Given the description of an element on the screen output the (x, y) to click on. 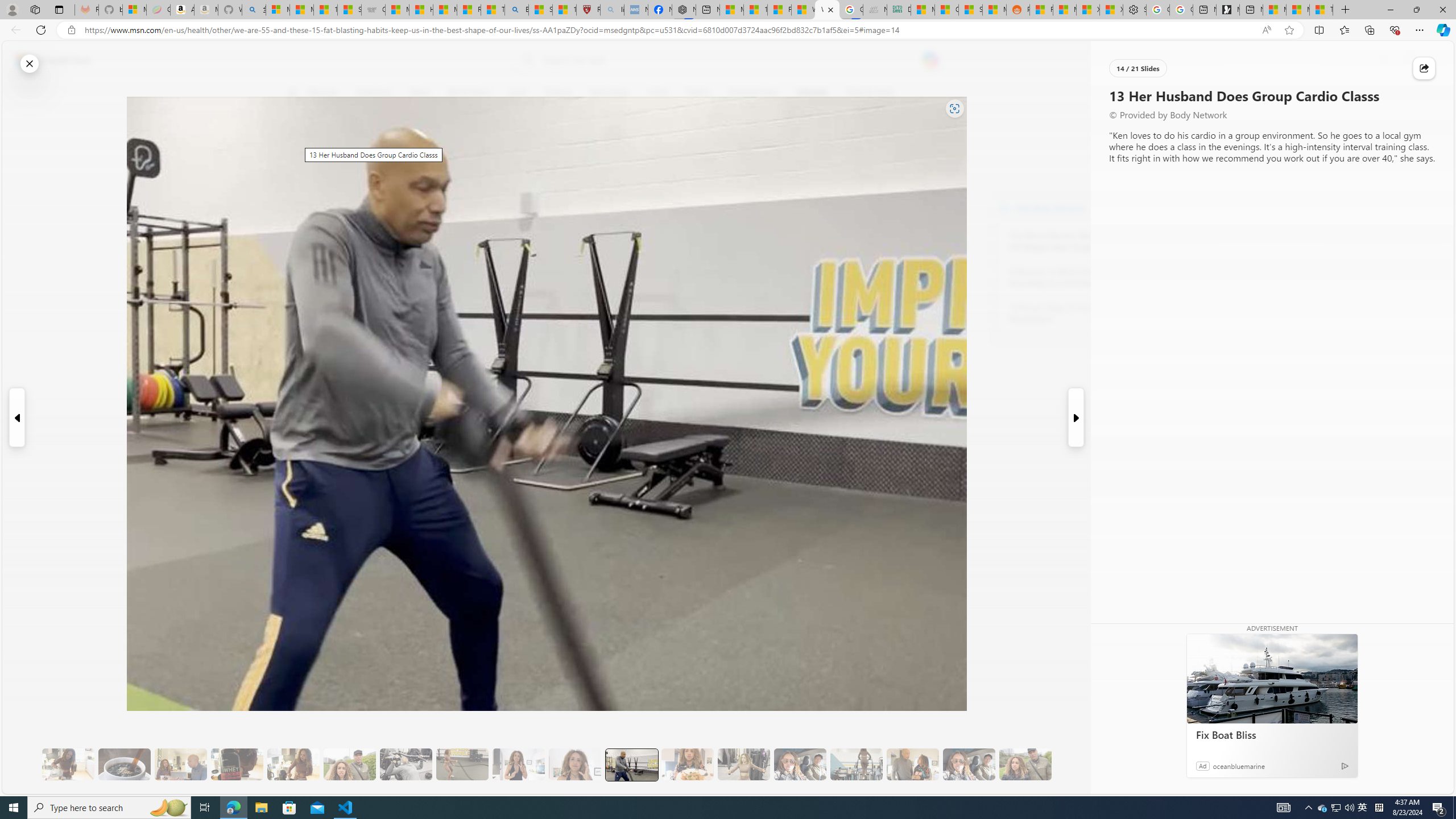
Visit Body Network website (1145, 207)
8 They Walk to the Gym (349, 764)
Food & Drink (869, 92)
oceanbluemarine (1238, 765)
8 Be Mindful of Coffee (124, 764)
